Given the description of an element on the screen output the (x, y) to click on. 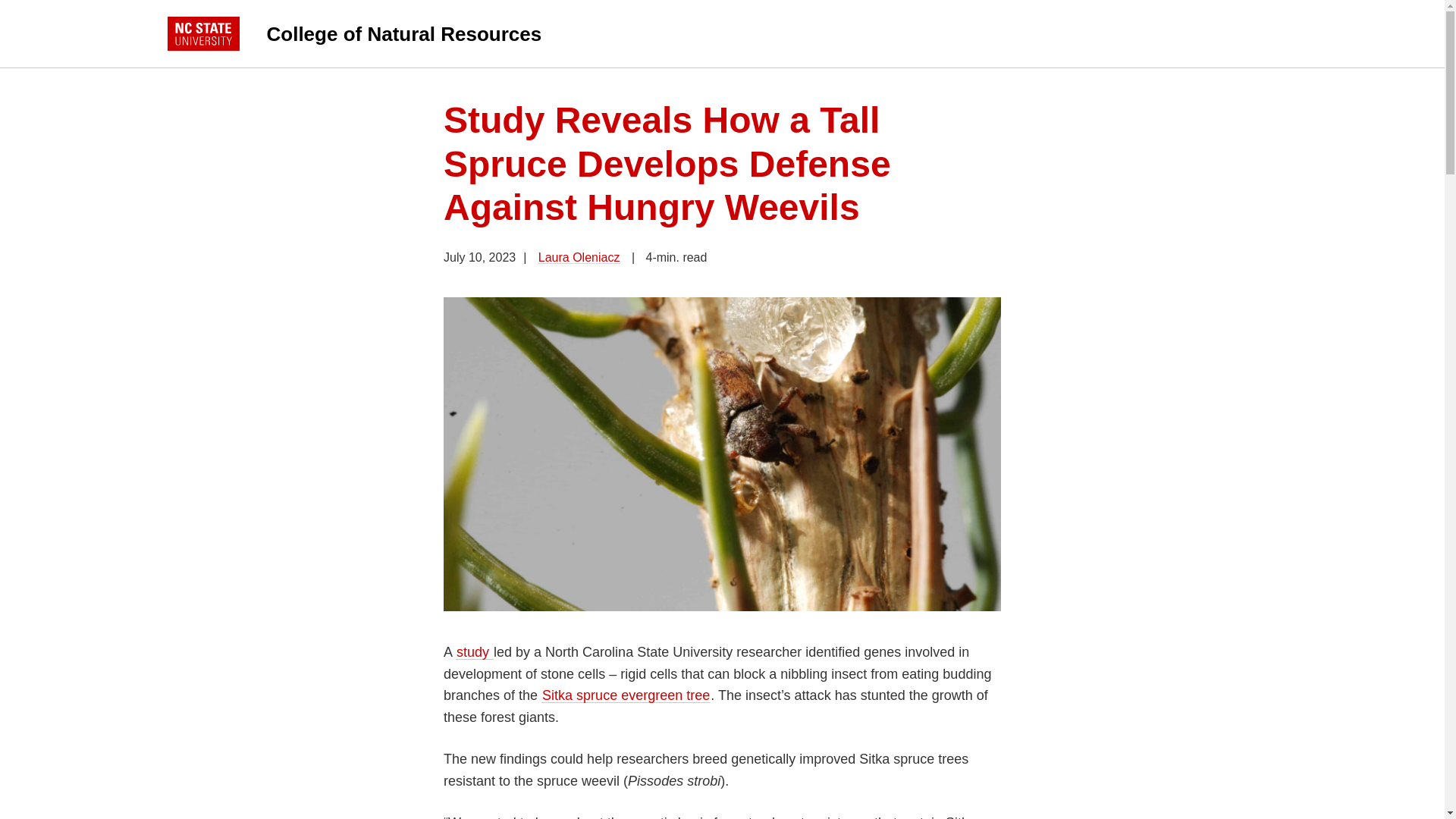
Laura Oleniacz (579, 256)
Sitka spruce evergreen tree (625, 694)
College of Natural Resources (607, 33)
Posts by Laura Oleniacz (579, 256)
study (474, 652)
